Given the description of an element on the screen output the (x, y) to click on. 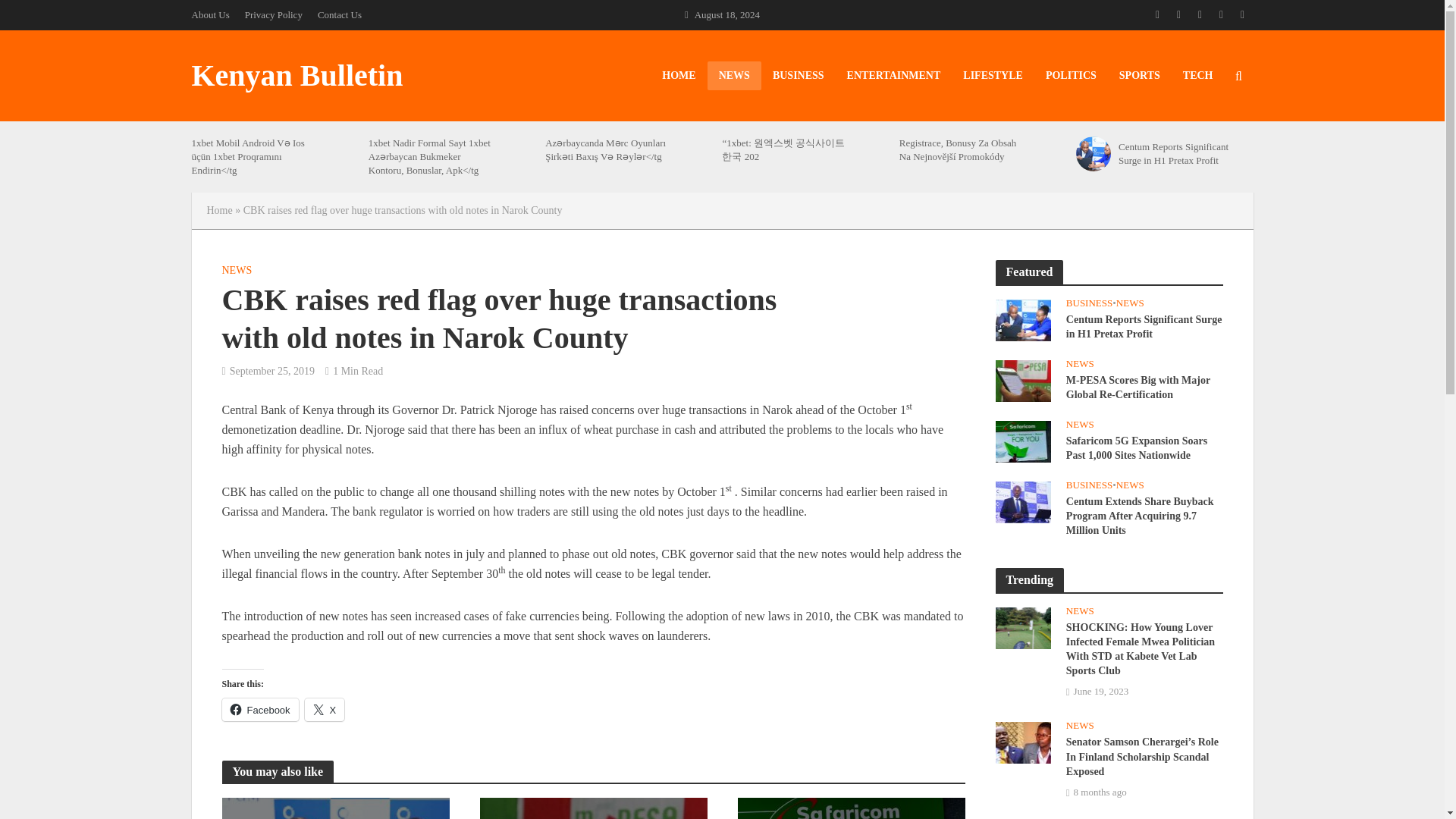
Centum Reports Significant Surge in H1 Pretax Profit (334, 808)
NEWS (734, 75)
Safaricom 5G Expansion Soars Past 1,000 Sites Nationwide (1021, 441)
Centum Reports Significant Surge in H1 Pretax Profit (1021, 320)
Click to share on X (324, 709)
Safaricom 5G Expansion Soars Past 1,000 Sites Nationwide (1021, 440)
Safaricom 5G Expansion Soars Past 1,000 Sites Nationwide (849, 808)
M-PESA Scores Big with Major Global Re-Certification (1021, 381)
Centum Reports Significant Surge in H1 Pretax Profit (1180, 153)
